Given the description of an element on the screen output the (x, y) to click on. 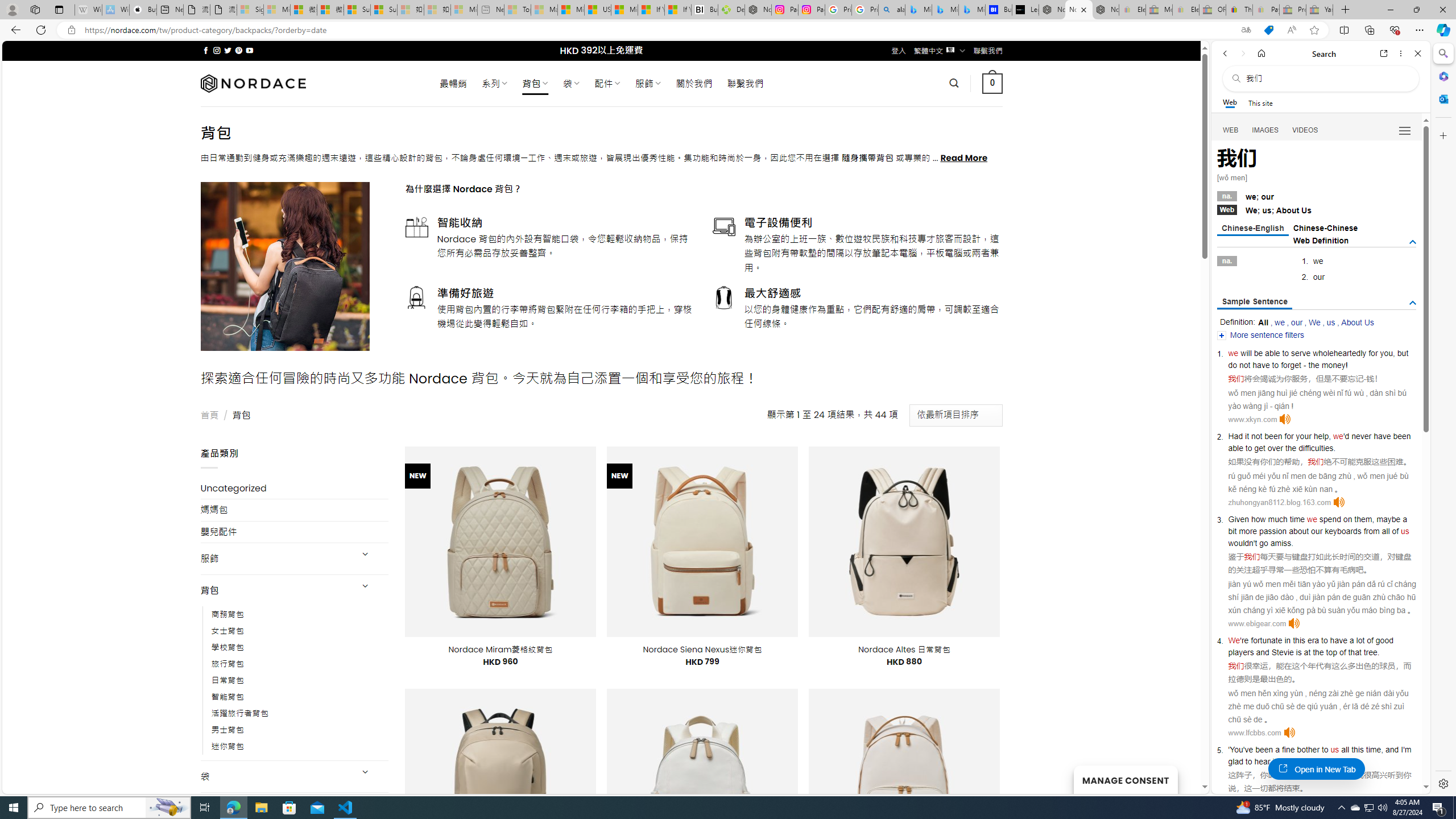
Preferences (1403, 129)
going (1294, 760)
players (1240, 651)
serve (1300, 352)
Search Filter, WEB (1231, 129)
! (1346, 364)
VIDEOS (1304, 130)
